Given the description of an element on the screen output the (x, y) to click on. 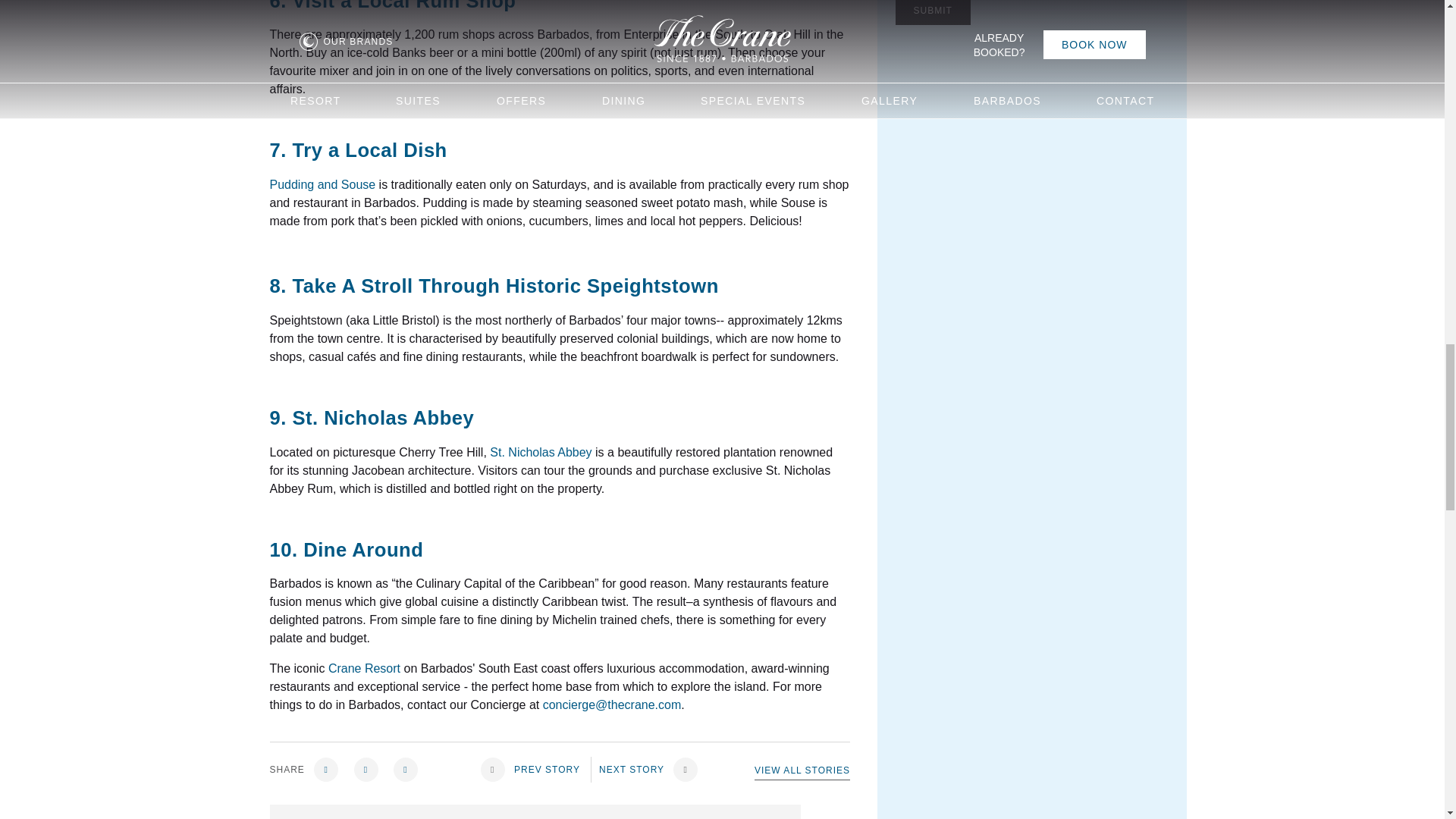
VIEW ALL STORIES (802, 770)
St. Nicholas Abbey (540, 451)
Share on Twitter (365, 769)
Submit (933, 12)
NEXT STORY (651, 769)
Crane Resort (364, 667)
Pudding and Souse (322, 184)
Share via Email (405, 769)
PREV STORY (529, 769)
Share on Facebook (325, 769)
